Given the description of an element on the screen output the (x, y) to click on. 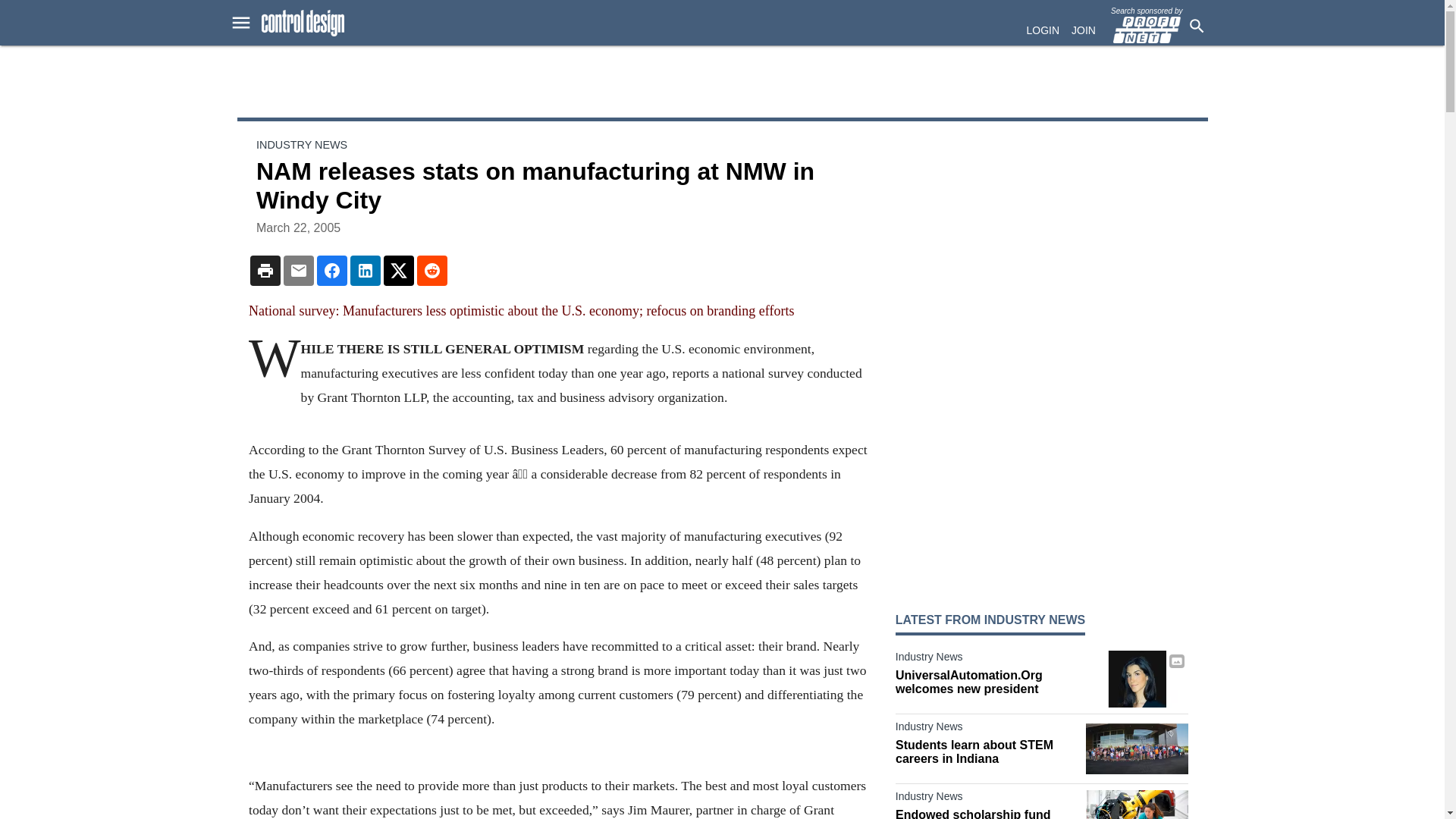
JOIN (1083, 30)
Raquel Torres, president, UAO (1137, 678)
LOGIN (1042, 30)
